Given the description of an element on the screen output the (x, y) to click on. 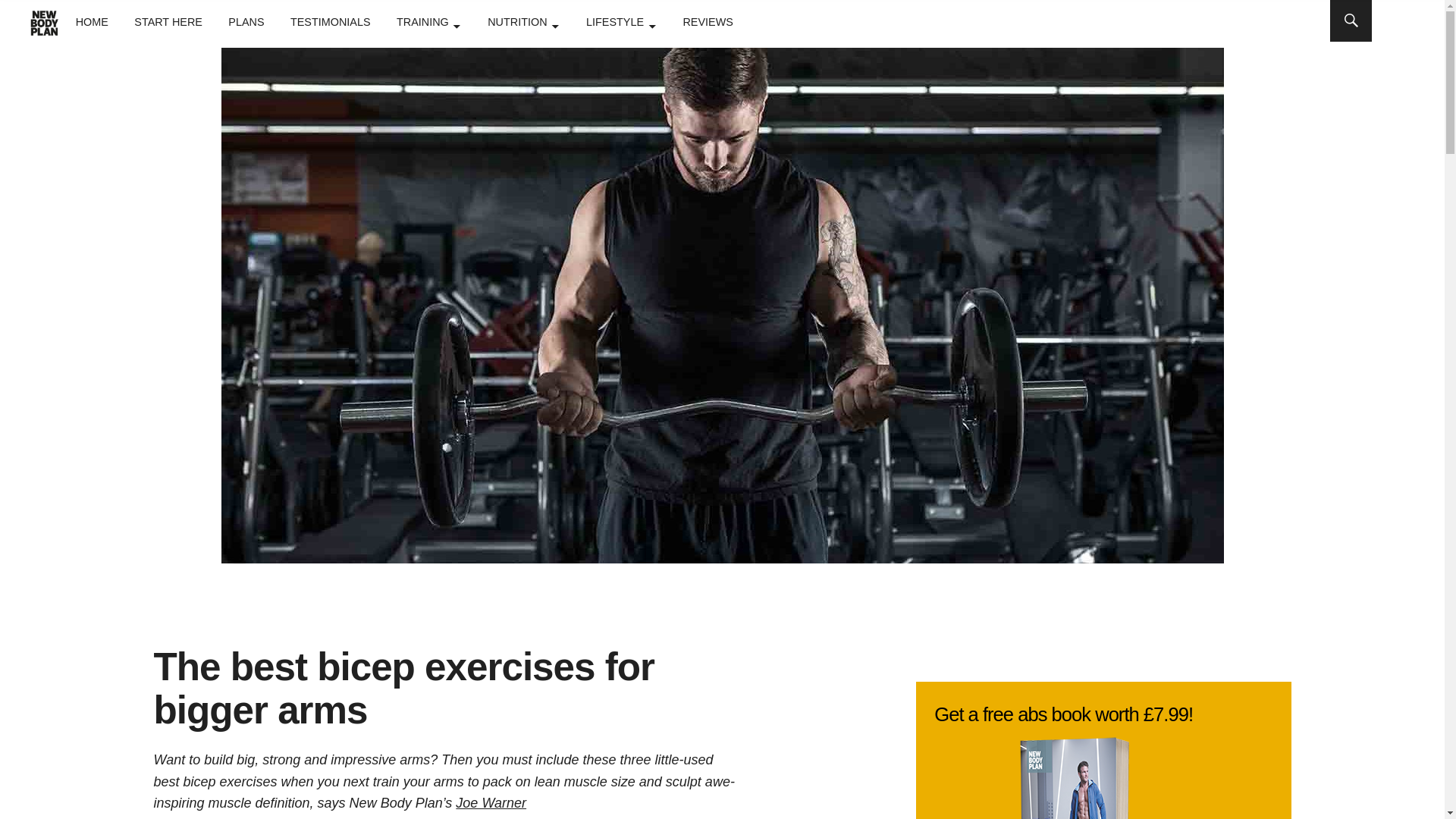
LIFESTYLE (621, 21)
TESTIMONIALS (330, 21)
START HERE (167, 21)
TRAINING (428, 21)
Search (692, 19)
HOME (91, 21)
NUTRITION (523, 21)
PLANS (245, 21)
REVIEWS (707, 21)
